Given the description of an element on the screen output the (x, y) to click on. 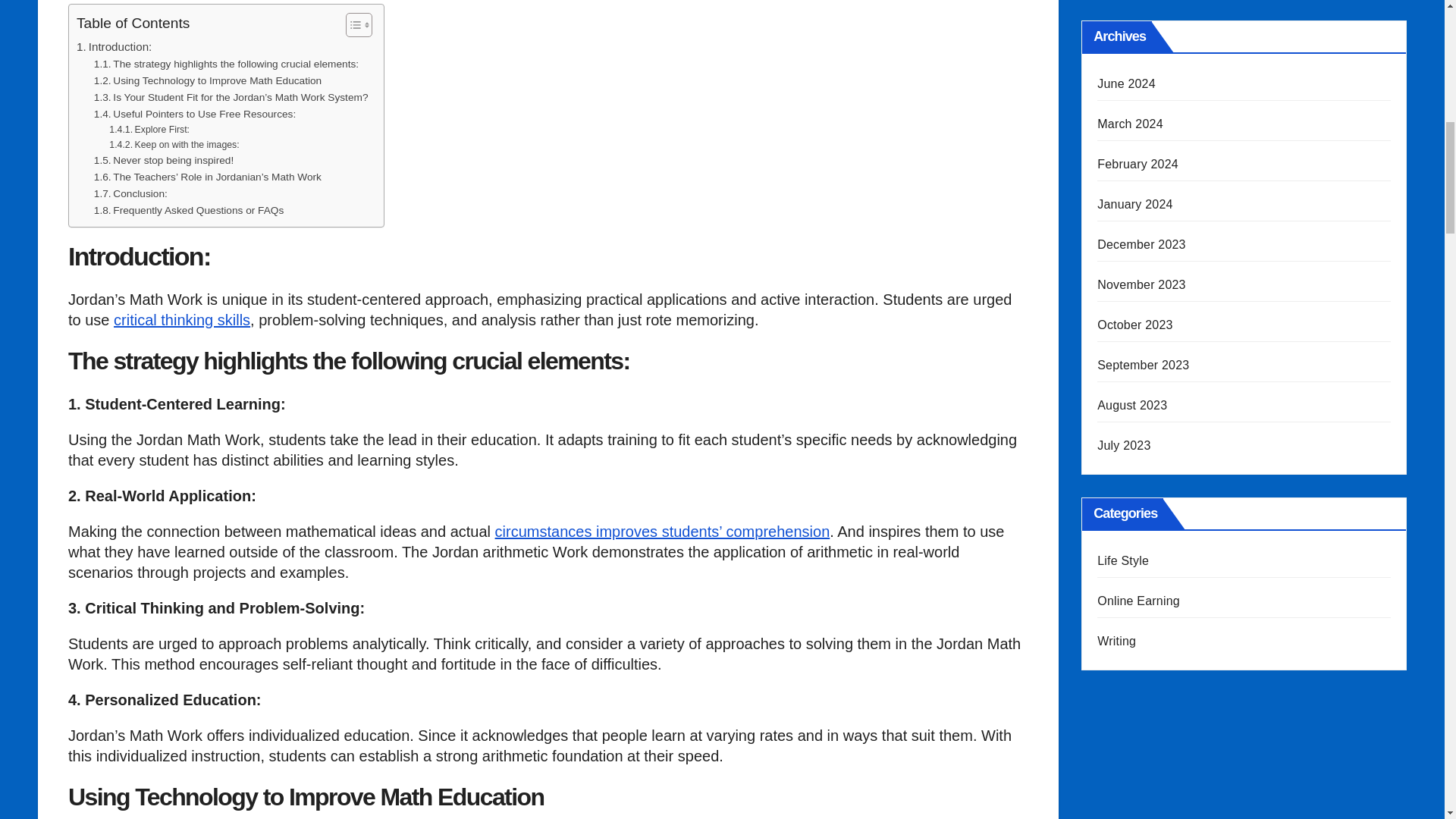
Conclusion: (130, 193)
Keep on with the images:  (173, 145)
Useful Pointers to Use Free Resources: (194, 114)
The strategy highlights the following crucial elements: (226, 64)
Frequently Asked Questions or FAQs (188, 210)
Keep on with the images: (173, 145)
Never stop being inspired! (163, 160)
Conclusion: (130, 193)
Introduction: (114, 46)
Useful Pointers to Use Free Resources: (194, 114)
